Given the description of an element on the screen output the (x, y) to click on. 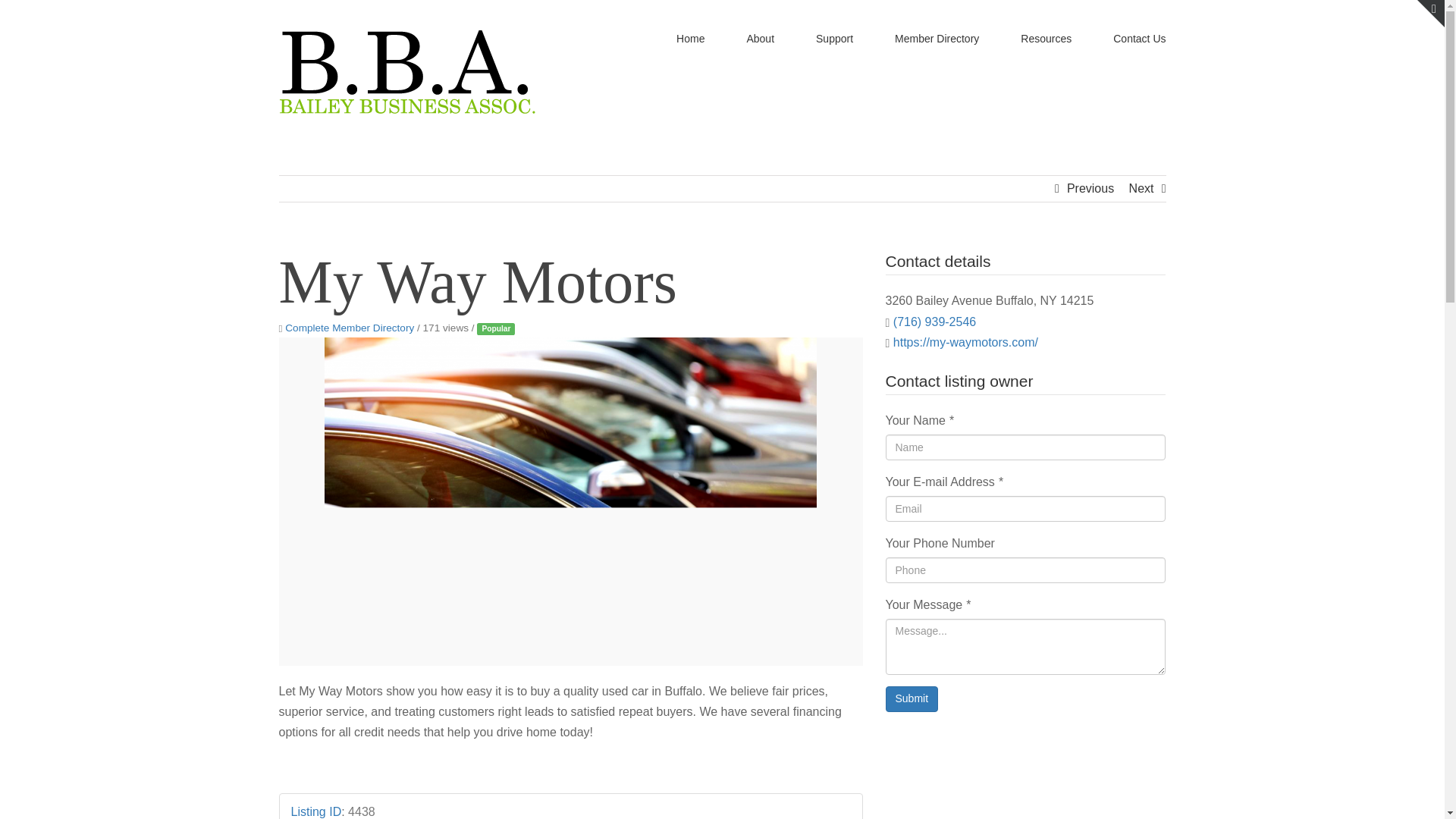
Complete Member Directory (349, 327)
Previous (1090, 188)
Submit (912, 698)
Next (1141, 188)
Member Directory (936, 37)
